Given the description of an element on the screen output the (x, y) to click on. 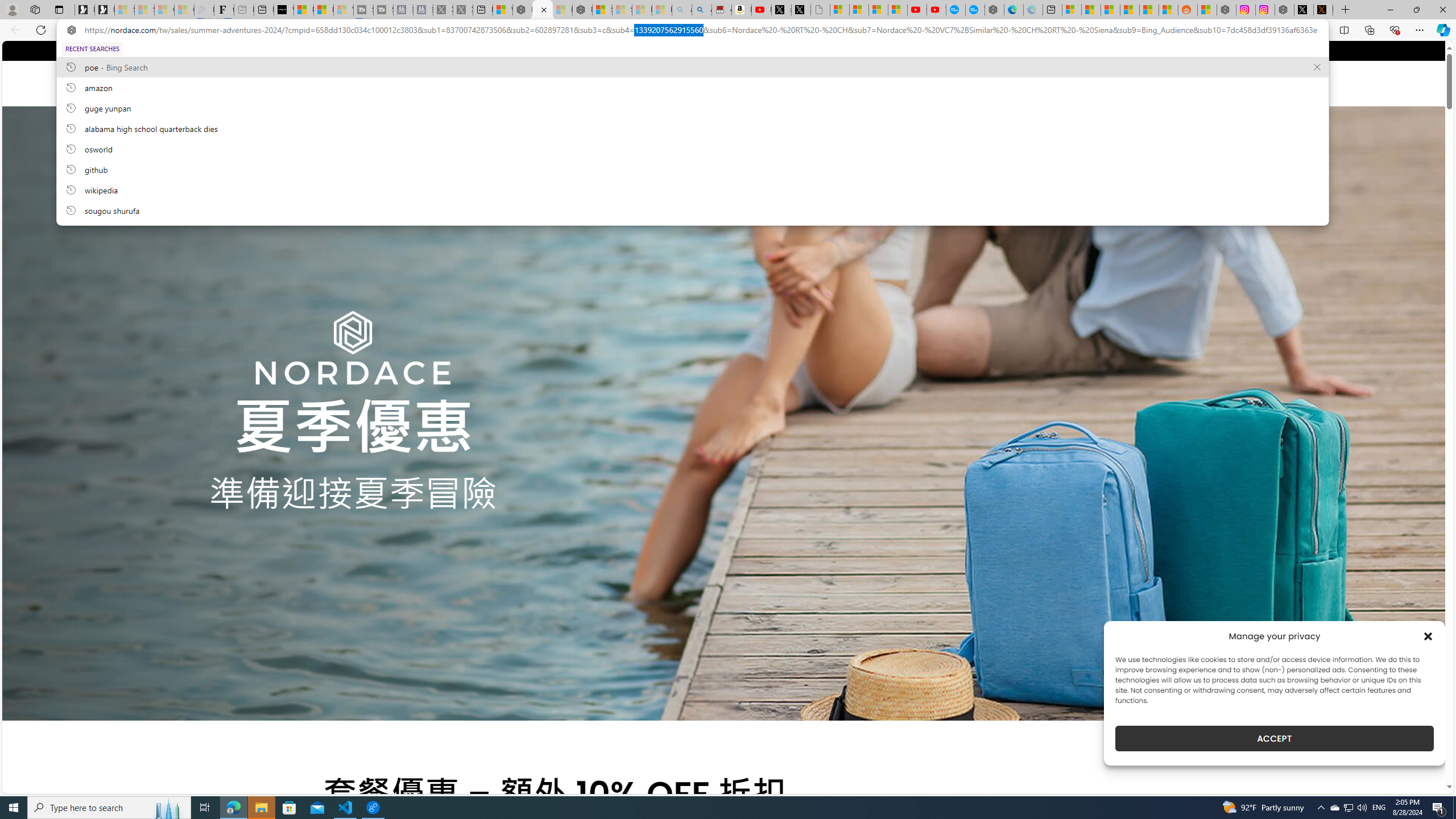
poe, recent searches from history (691, 66)
Workspaces (34, 9)
Personal Profile (12, 9)
wikipedia, recent searches from history (691, 189)
github, recent searches from history (691, 168)
New Tab (1346, 9)
Gloom - YouTube (916, 9)
amazon, recent searches from history (691, 86)
Shanghai, China weather forecast | Microsoft Weather (1090, 9)
